Given the description of an element on the screen output the (x, y) to click on. 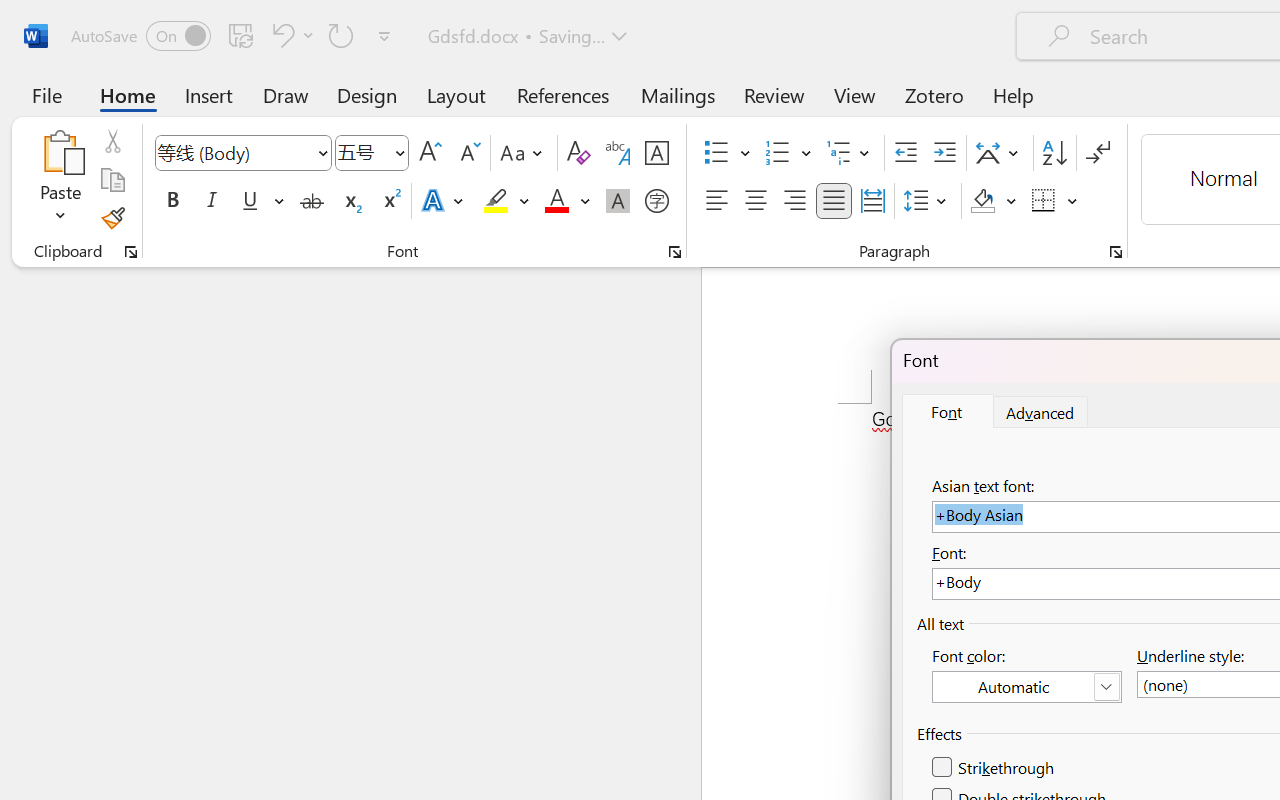
Center (756, 201)
Advanced (1041, 411)
Justify (834, 201)
Font Color (Automatic) (1026, 687)
Phonetic Guide... (618, 153)
Superscript (390, 201)
Copy (112, 179)
Enclose Characters... (656, 201)
